Given the description of an element on the screen output the (x, y) to click on. 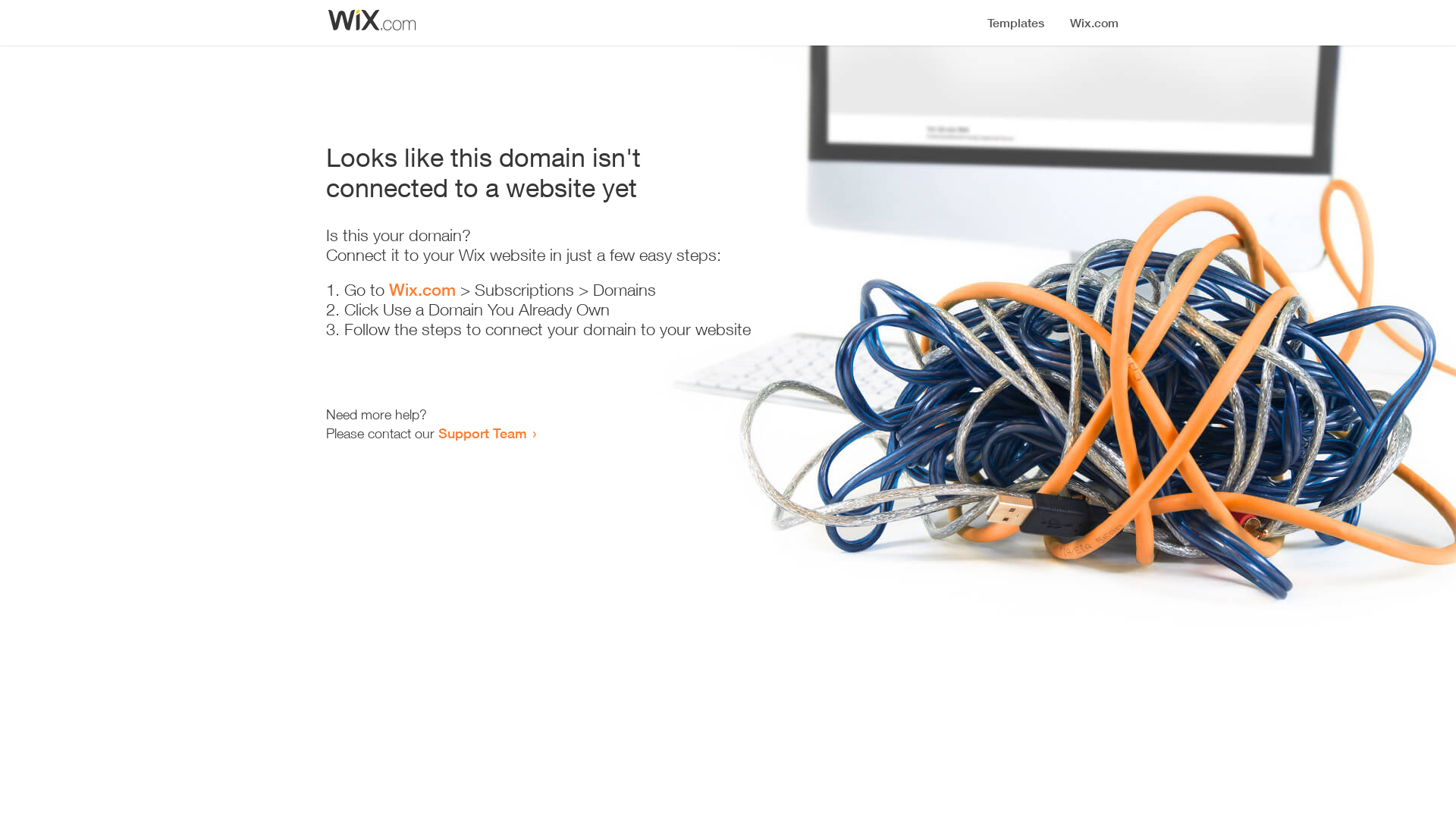
Support Team Element type: text (482, 432)
Wix.com Element type: text (422, 289)
